Given the description of an element on the screen output the (x, y) to click on. 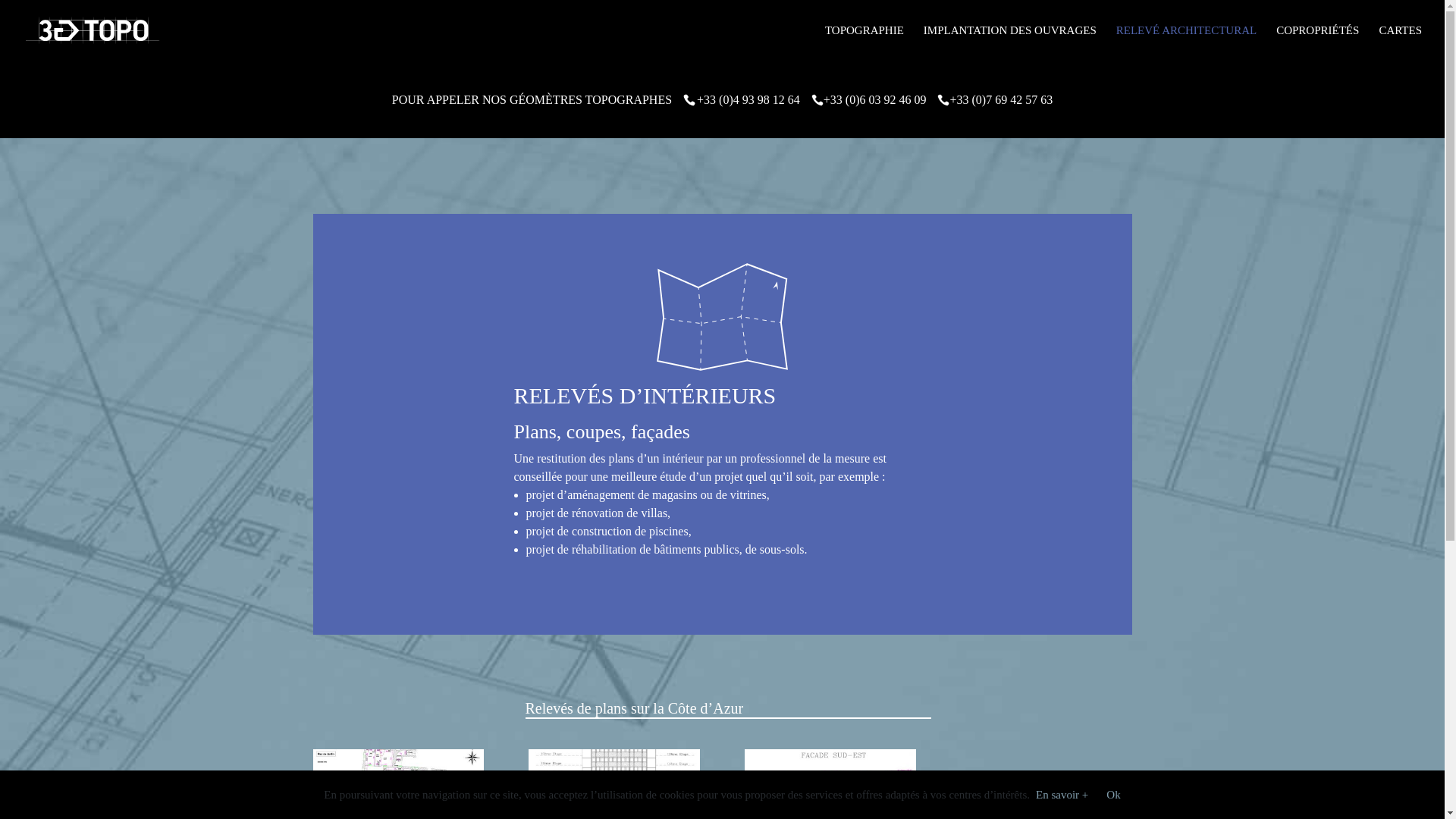
+33 (0)4 93 98 12 64 Element type: text (748, 99)
IMPLANTATION DES OUVRAGES Element type: text (1009, 42)
+33 (0)7 69 42 57 63 Element type: text (1000, 99)
CARTES Element type: text (1399, 42)
En savoir + Element type: text (1061, 794)
TOPOGRAPHIE Element type: text (864, 42)
Ok Element type: text (1113, 794)
+33 (0)6 03 92 46 09 Element type: text (874, 99)
